Given the description of an element on the screen output the (x, y) to click on. 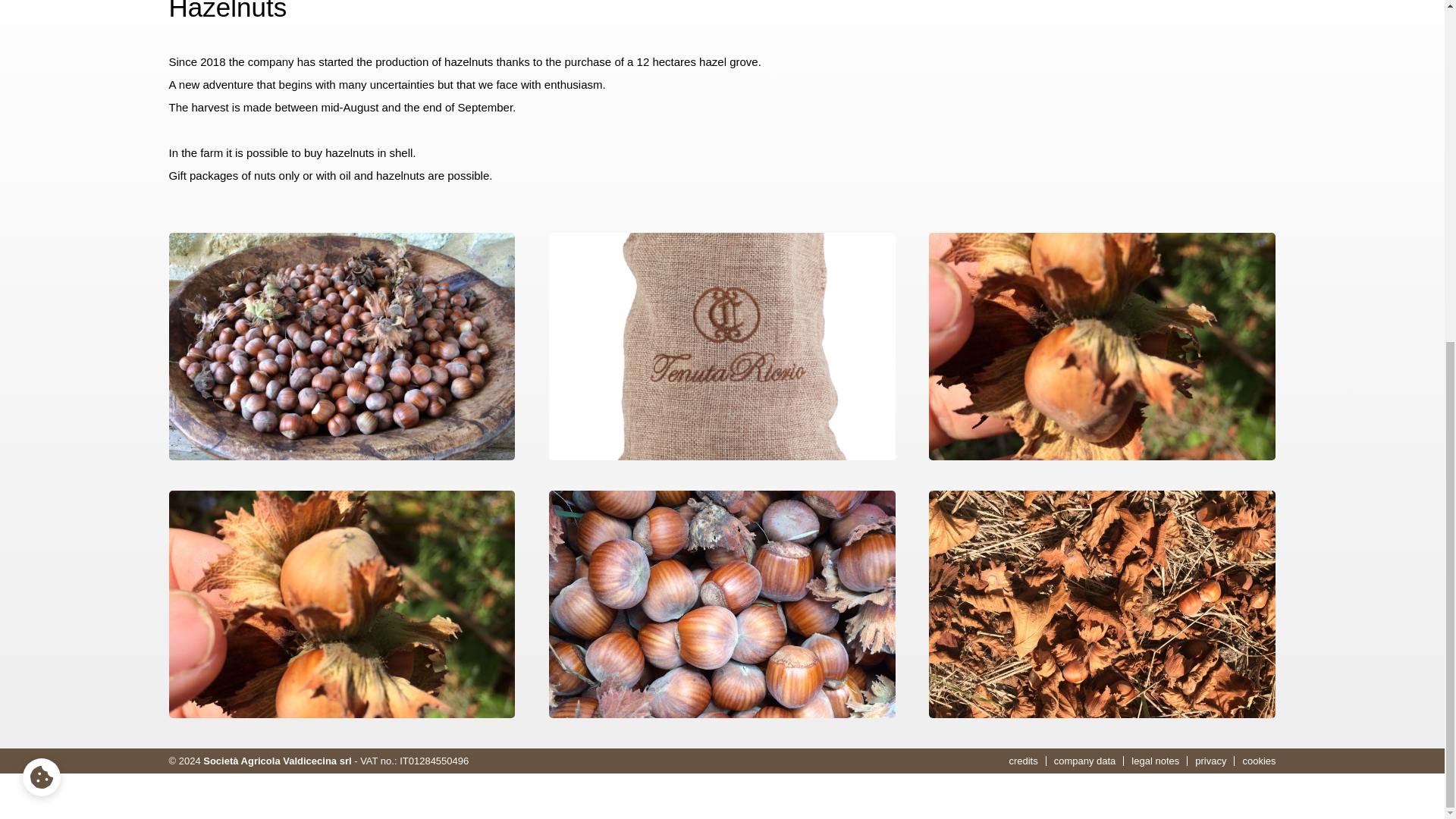
company data (1085, 760)
credits (1027, 760)
nocciole1 (341, 346)
legal notes (1156, 760)
cookies (1254, 760)
privacy (1211, 760)
